Given the description of an element on the screen output the (x, y) to click on. 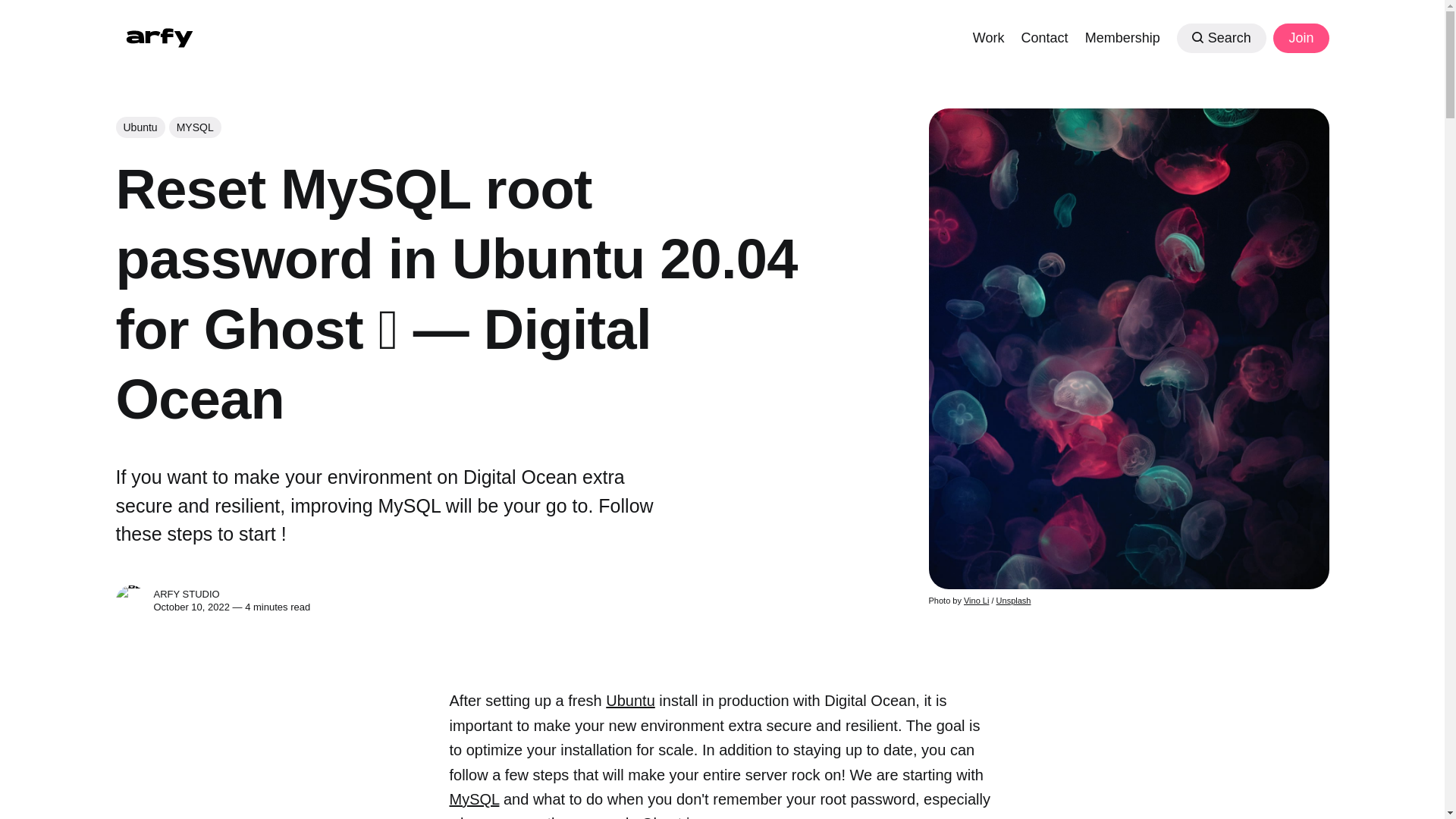
Unsplash (1012, 600)
ARFY STUDIO (185, 593)
MYSQL (194, 127)
Work (988, 37)
Ghost image (684, 816)
Ubuntu (139, 127)
Join (1299, 37)
ARFY STUDIO (130, 600)
Vino Li (975, 600)
MySQL (473, 799)
